Given the description of an element on the screen output the (x, y) to click on. 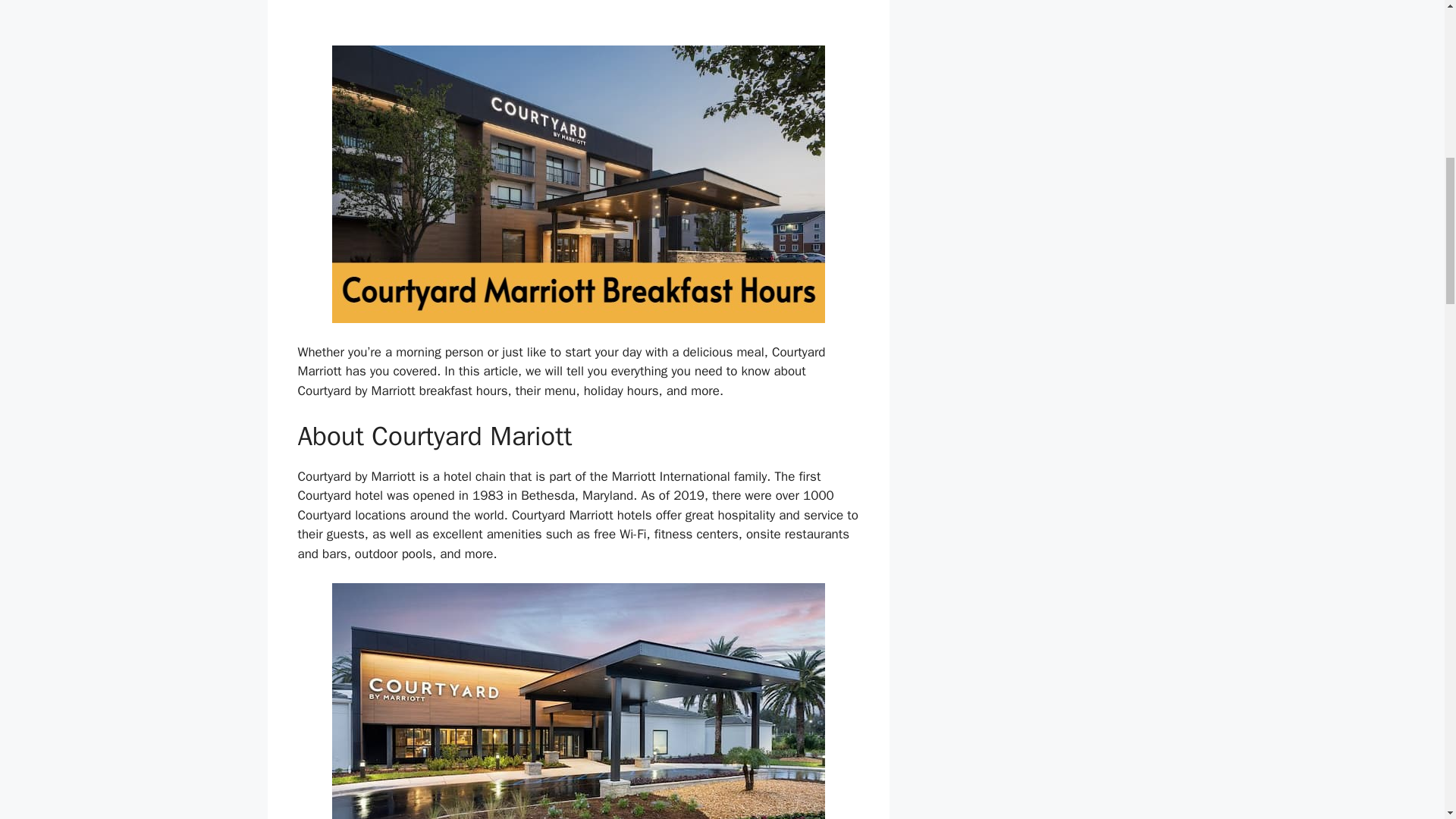
Advertisement (578, 18)
